Given the description of an element on the screen output the (x, y) to click on. 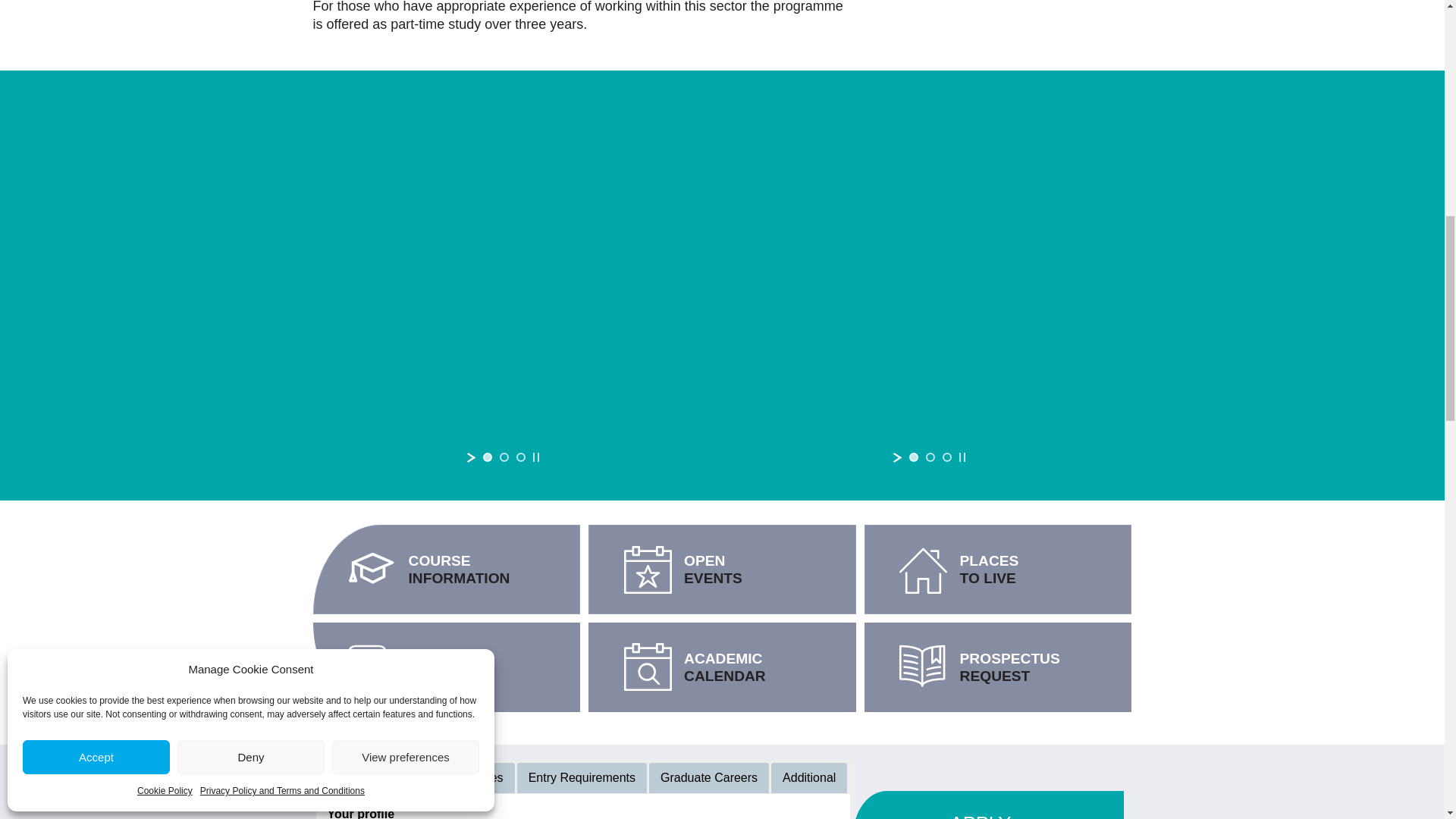
Places To Live (997, 569)
Course Information (446, 569)
Prospectus Request (997, 667)
About Finances (446, 667)
Academic Calendar (722, 667)
Apply Part-Time (987, 805)
Open Events (722, 569)
